Given the description of an element on the screen output the (x, y) to click on. 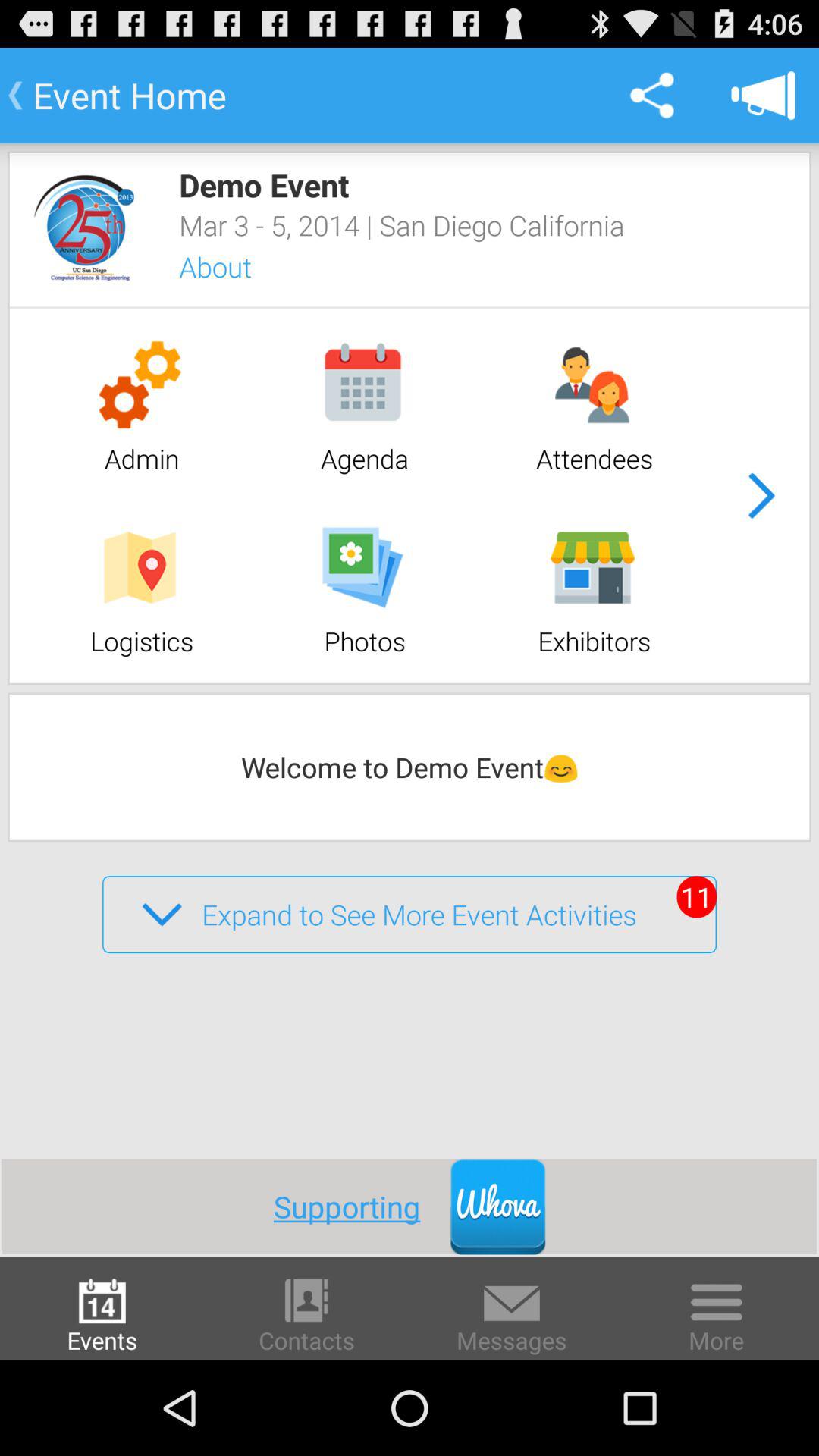
choose item next to the attendees (761, 495)
